Given the description of an element on the screen output the (x, y) to click on. 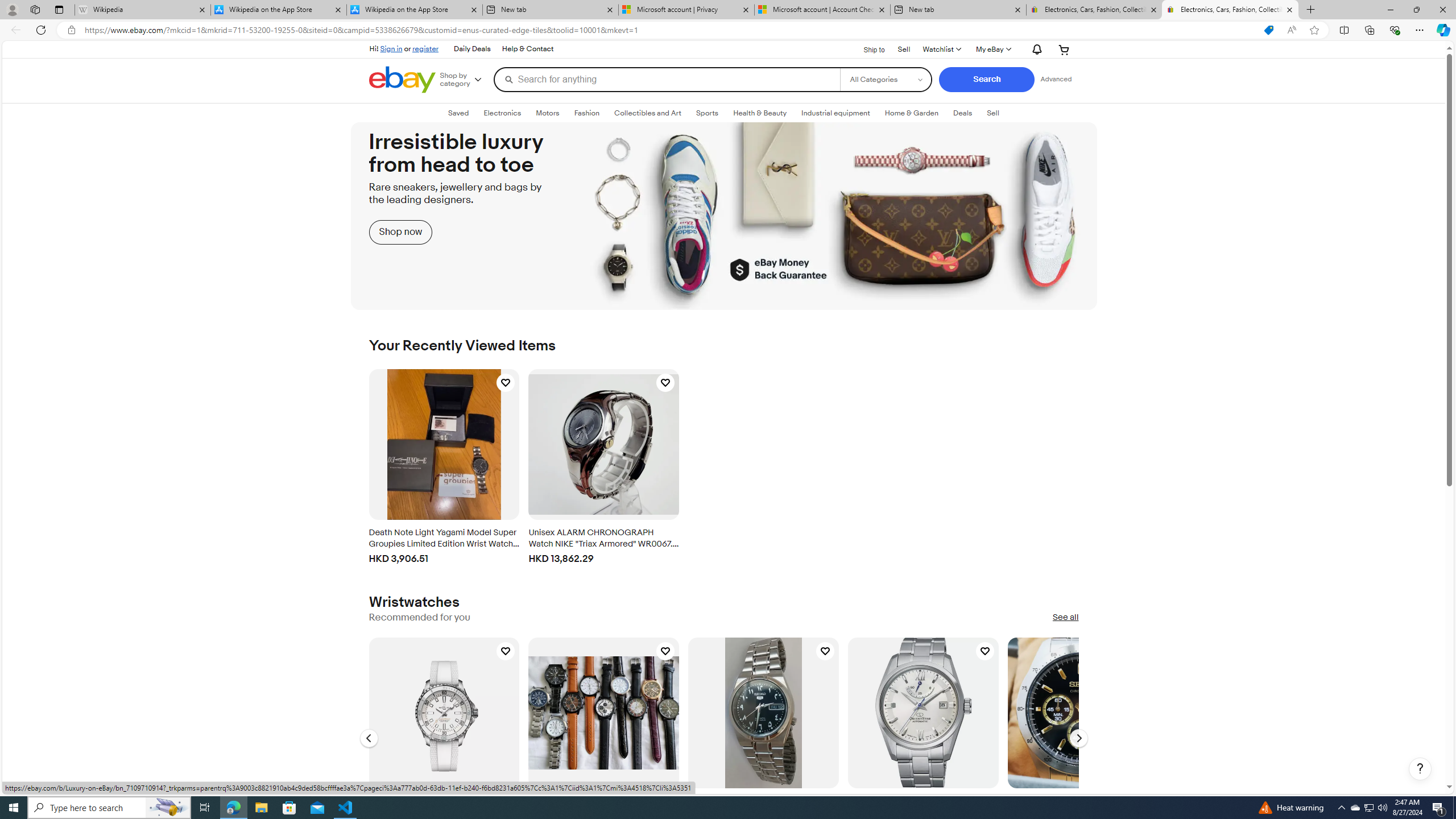
Your shopping cart (1064, 49)
My eBay (992, 49)
Health & BeautyExpand: Health & Beauty (759, 112)
Ship to (866, 48)
Advanced Search (1056, 78)
ElectronicsExpand: Electronics (502, 112)
Go to the previous slide, Wristwatches - Carousel (368, 737)
Collectibles and Art (647, 112)
Daily Deals (472, 49)
Help & Contact (527, 49)
